Given the description of an element on the screen output the (x, y) to click on. 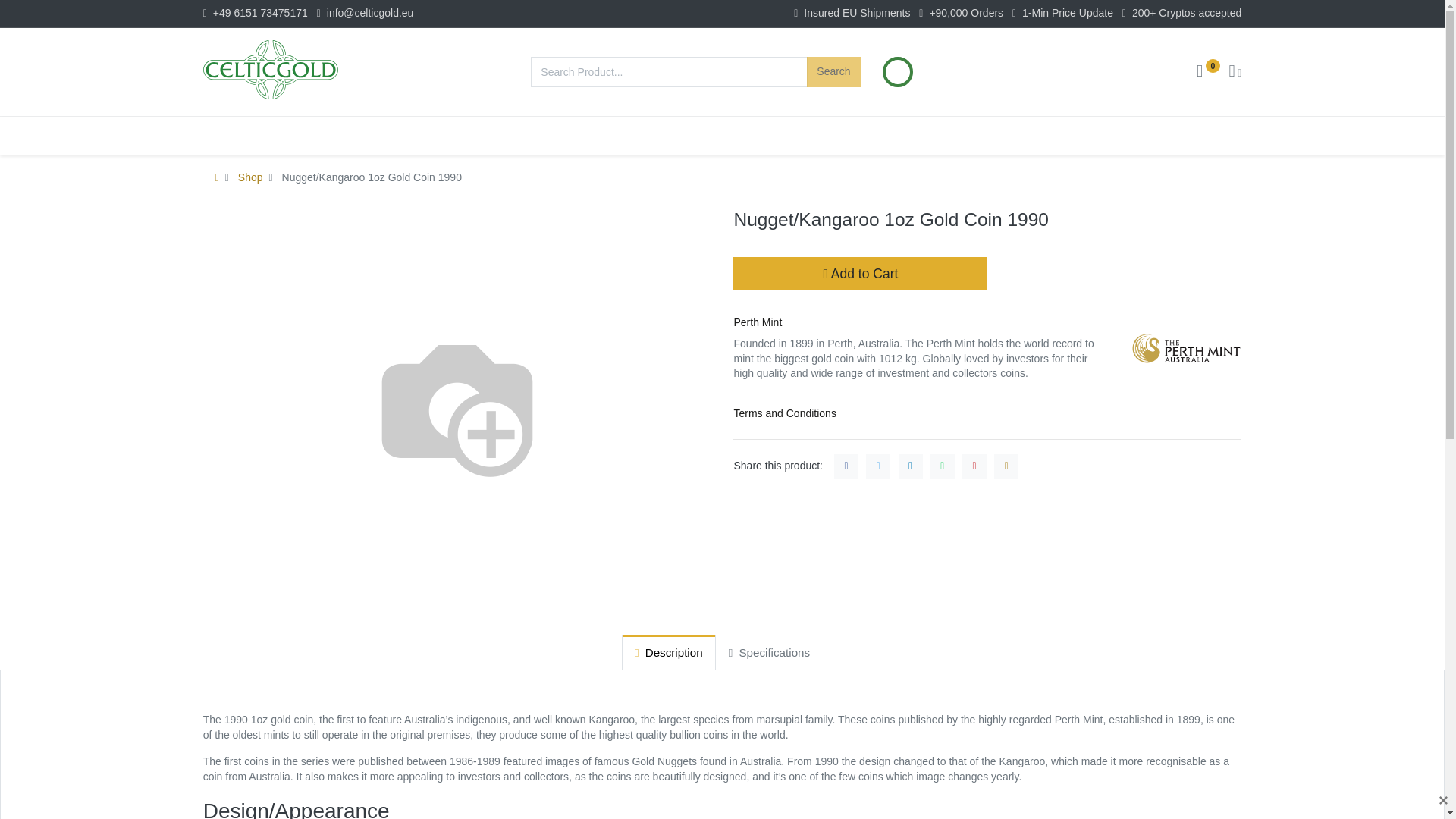
CelticGold.eu (270, 69)
Search (833, 71)
Automatic Price-Update (898, 72)
0 (1208, 72)
